Given the description of an element on the screen output the (x, y) to click on. 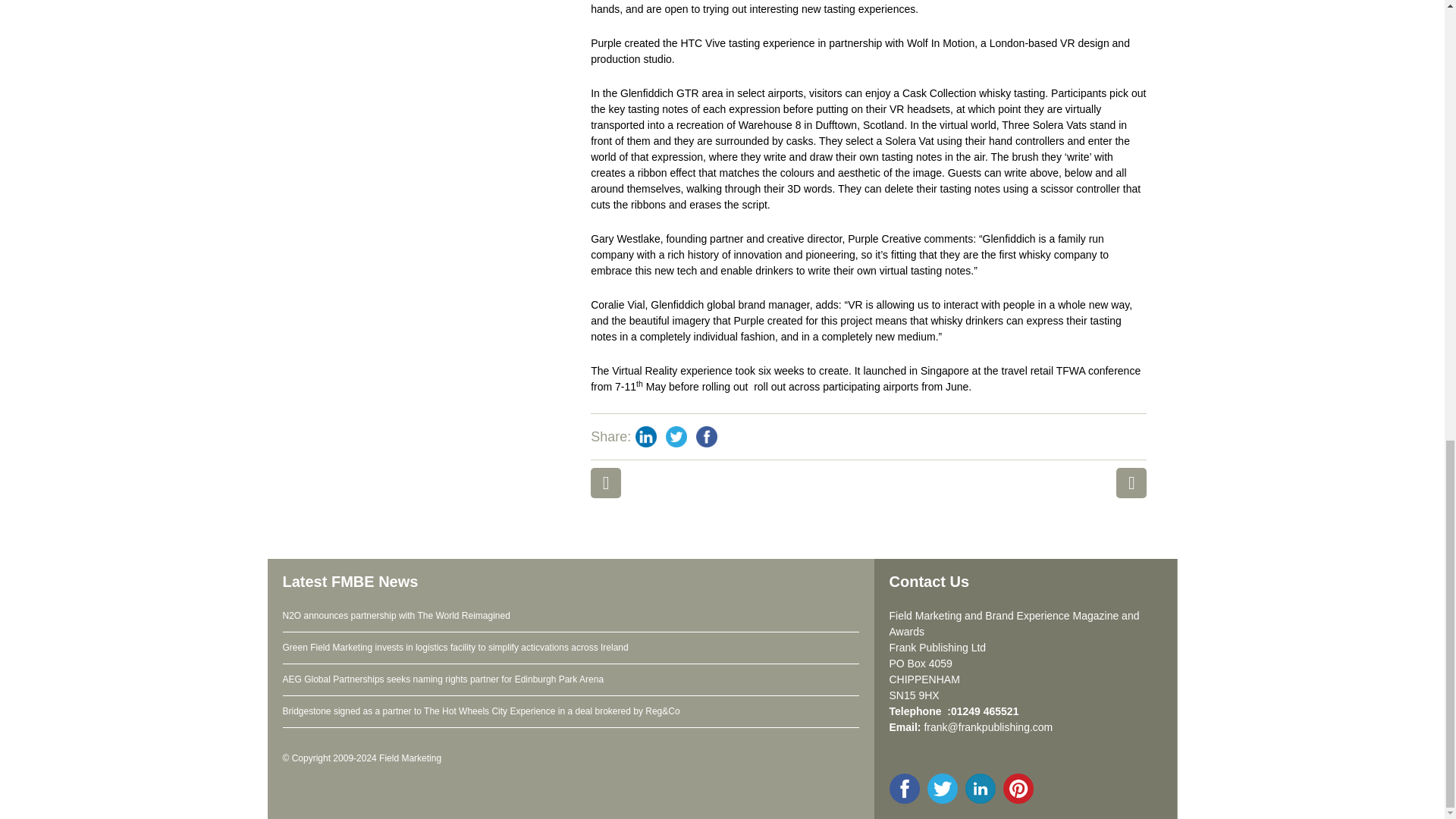
LinkedIn (645, 436)
Twitter (676, 436)
Facebook (706, 436)
